Given the description of an element on the screen output the (x, y) to click on. 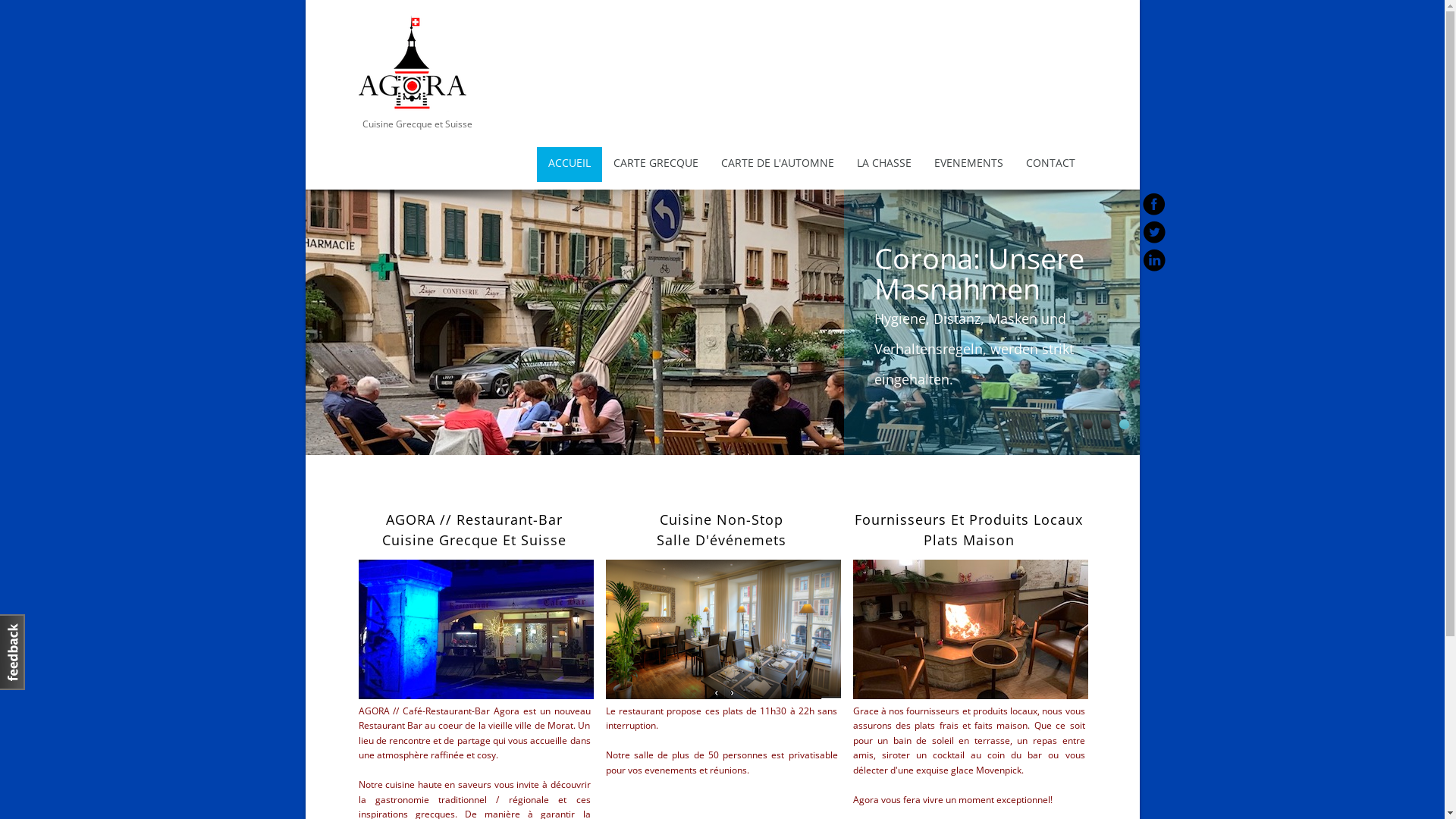
Accueil Element type: hover (411, 108)
LA CHASSE Element type: text (883, 164)
CONTACT Element type: text (1050, 164)
twitter Element type: text (1154, 231)
Corona: Unsere Masnahmen Element type: hover (721, 322)
EVENEMENTS Element type: text (967, 164)
ACCUEIL Element type: text (569, 164)
linkedin Element type: text (1154, 259)
CARTE GRECQUE Element type: text (655, 164)
CARTE DE L'AUTOMNE Element type: text (777, 164)
facebook Element type: text (1154, 203)
